Given the description of an element on the screen output the (x, y) to click on. 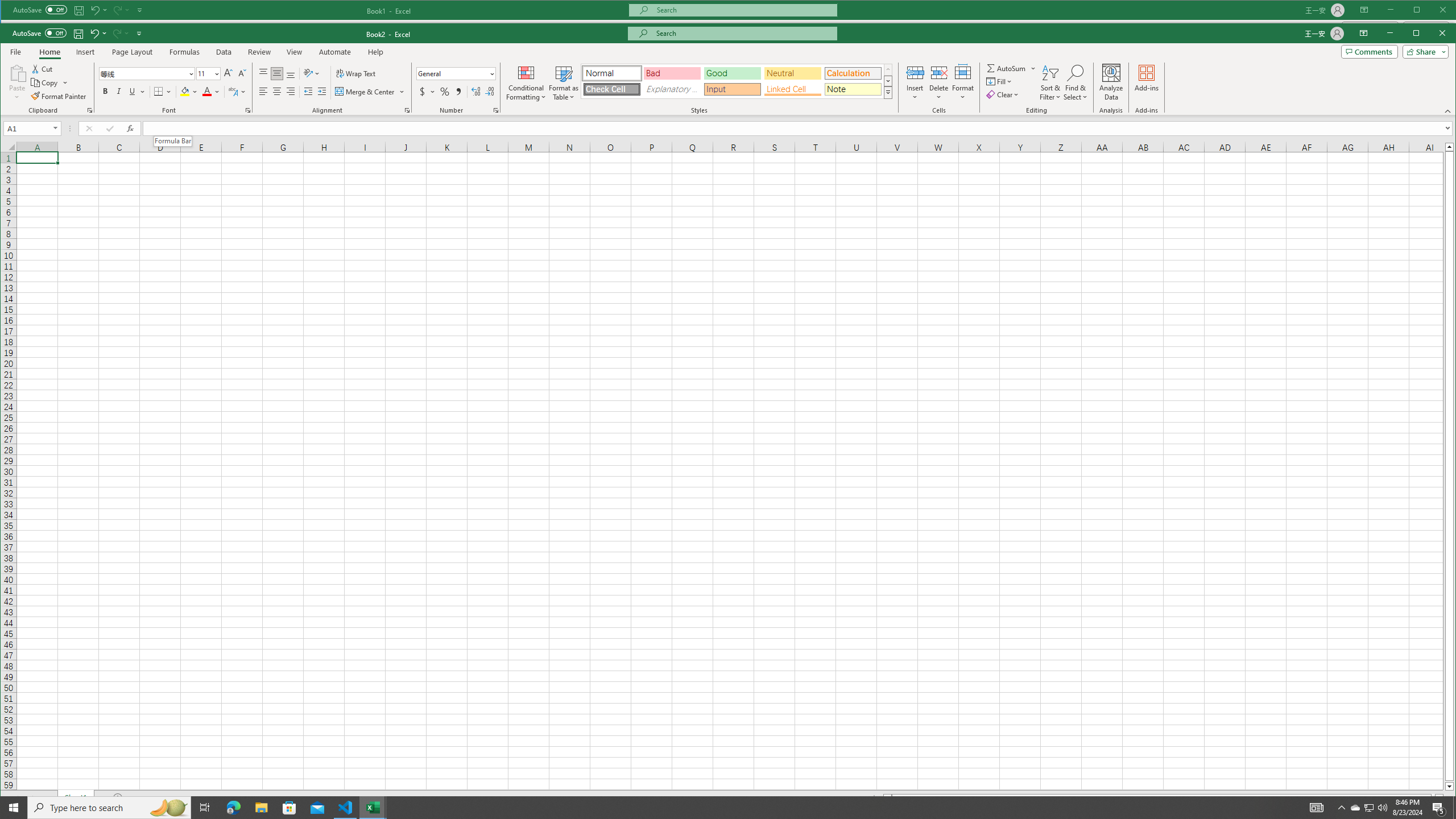
Borders (162, 91)
Cell Styles (887, 92)
Paste (17, 82)
Page Break Preview (1334, 812)
Show Phonetic Field (232, 91)
Show Phonetic Field (237, 91)
Office Clipboard... (89, 109)
Bad (671, 73)
Quick Access Toolbar (77, 33)
Save (77, 32)
Increase Decimal (475, 91)
Fill (1000, 81)
Insert (85, 51)
Format as Table (563, 82)
Add Sheet (118, 797)
